Given the description of an element on the screen output the (x, y) to click on. 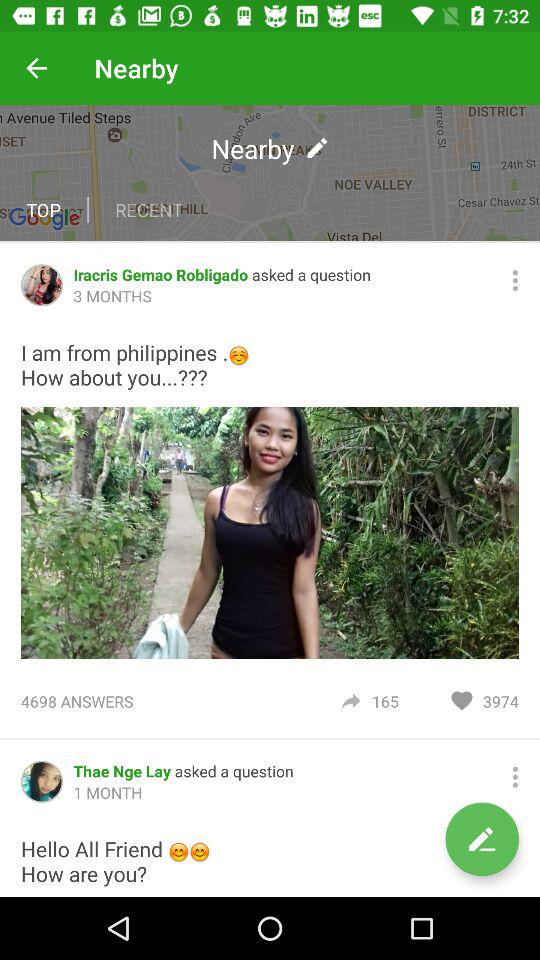
turn on app to the left of the nearby (36, 68)
